Given the description of an element on the screen output the (x, y) to click on. 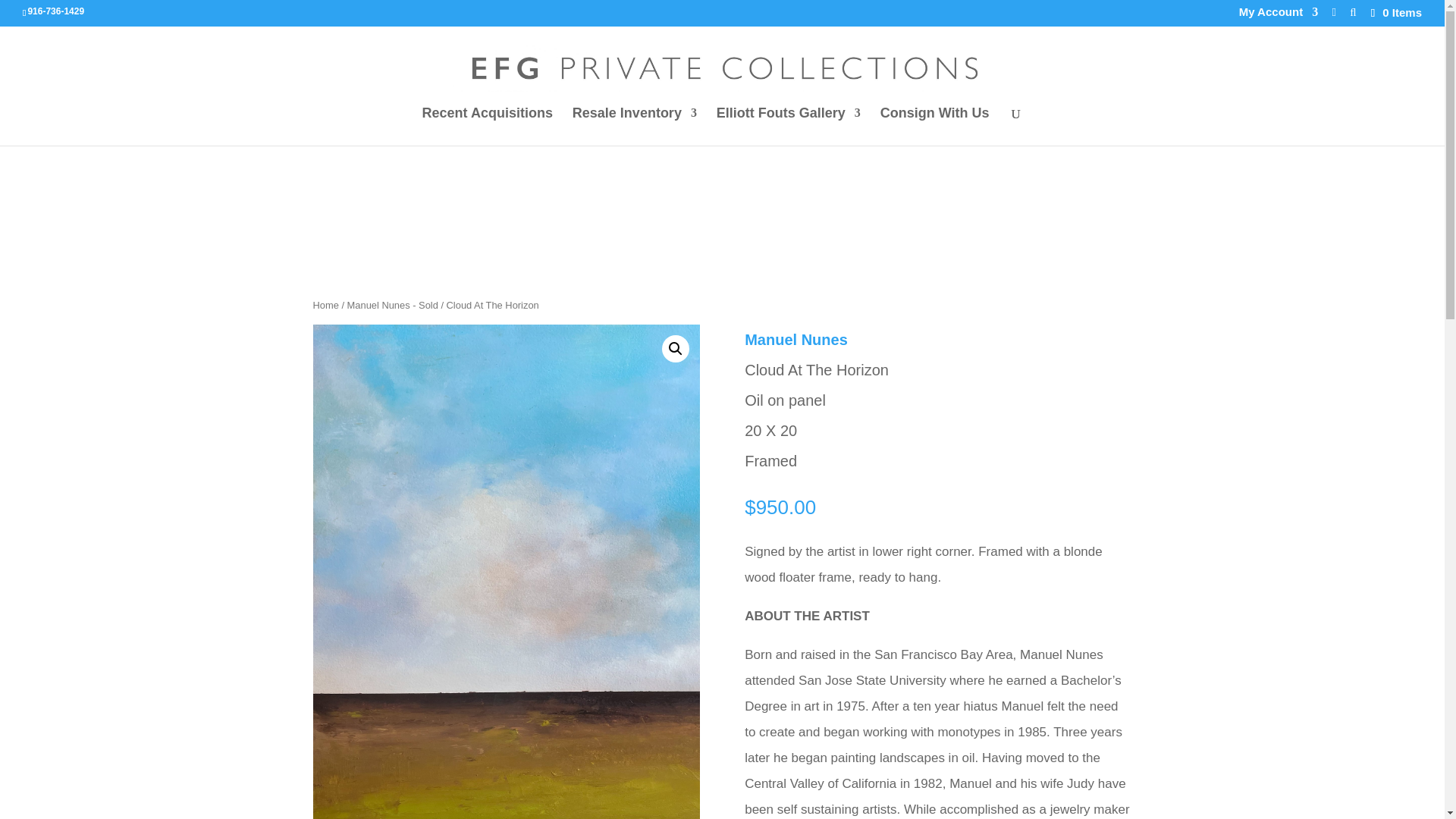
Elliott Fouts Gallery (788, 126)
Recent Acquisitions (487, 126)
My Account (1278, 16)
Resale Inventory (634, 126)
Consign With Us (935, 126)
0 Items (1395, 11)
